Given the description of an element on the screen output the (x, y) to click on. 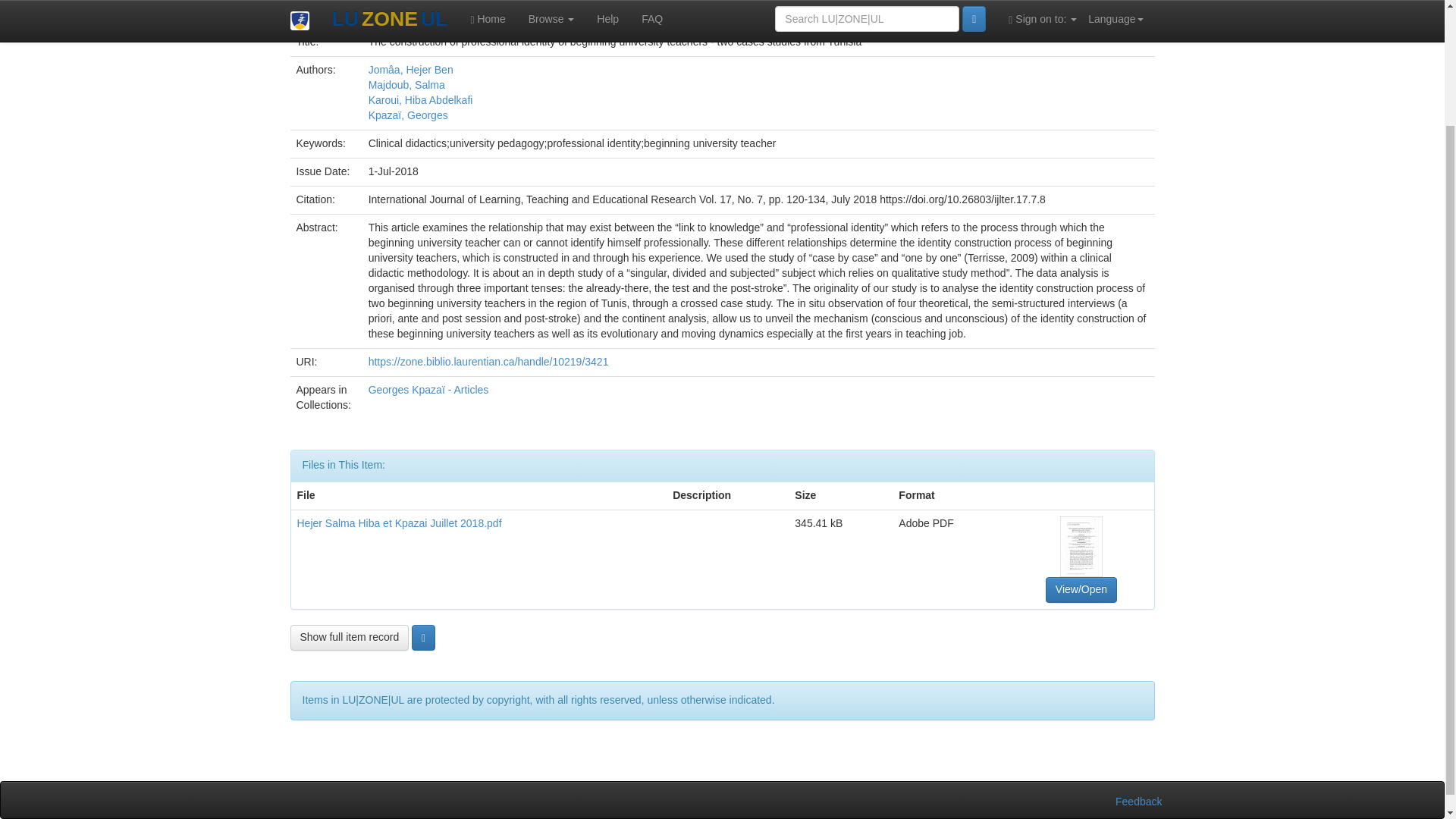
Feedback (1138, 801)
Hejer Salma Hiba et Kpazai Juillet 2018.pdf (399, 522)
Majdoub, Salma (406, 84)
Karoui, Hiba Abdelkafi (420, 100)
Show full item record (349, 637)
